Given the description of an element on the screen output the (x, y) to click on. 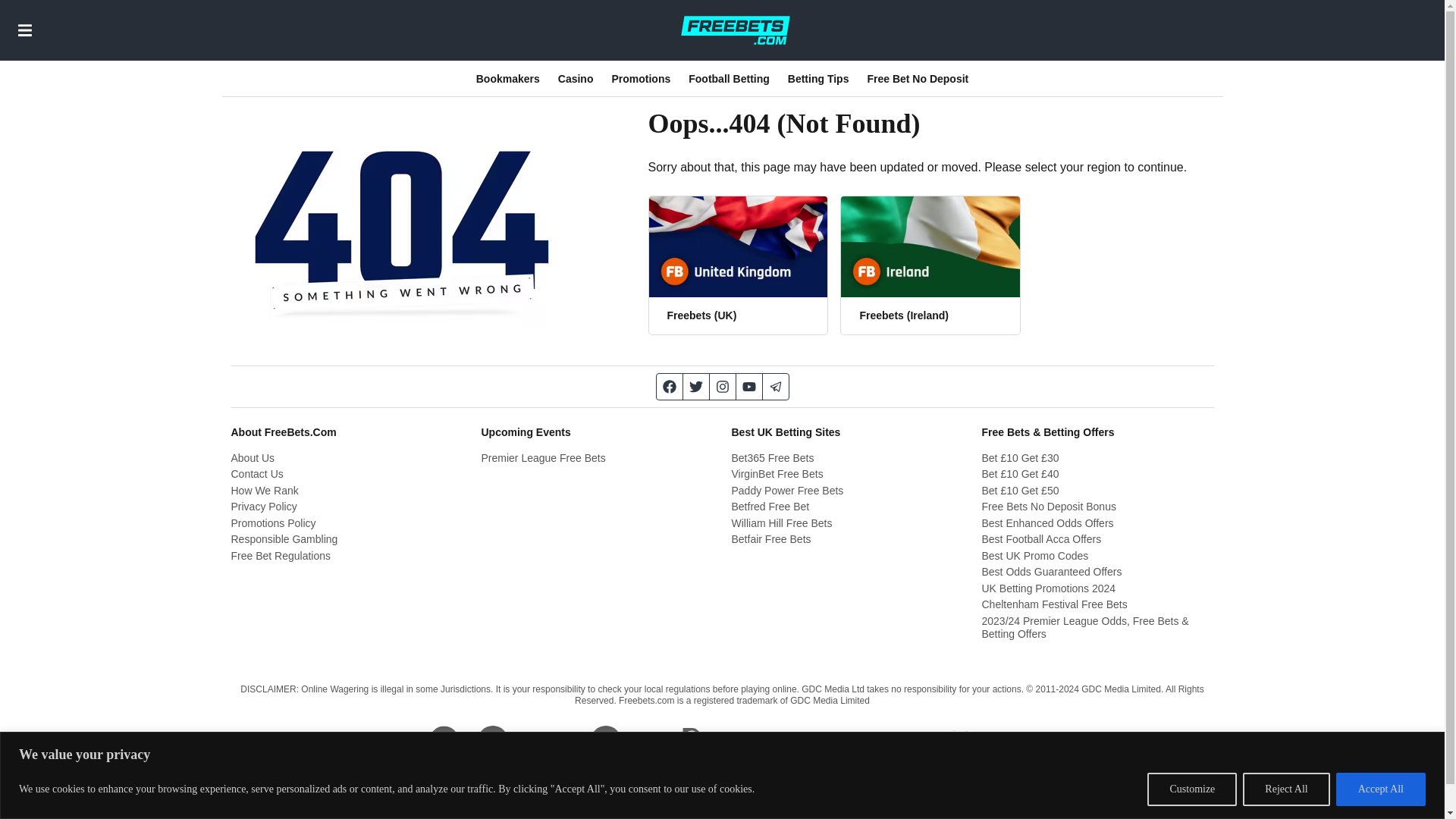
Telegram (775, 386)
Twitter feed (695, 386)
Youtube page (748, 386)
Customize (1191, 788)
FreeBets Logo (735, 29)
Accept All (1380, 788)
Reject All (1286, 788)
Instagram page (723, 386)
Facebook page (669, 386)
